Given the description of an element on the screen output the (x, y) to click on. 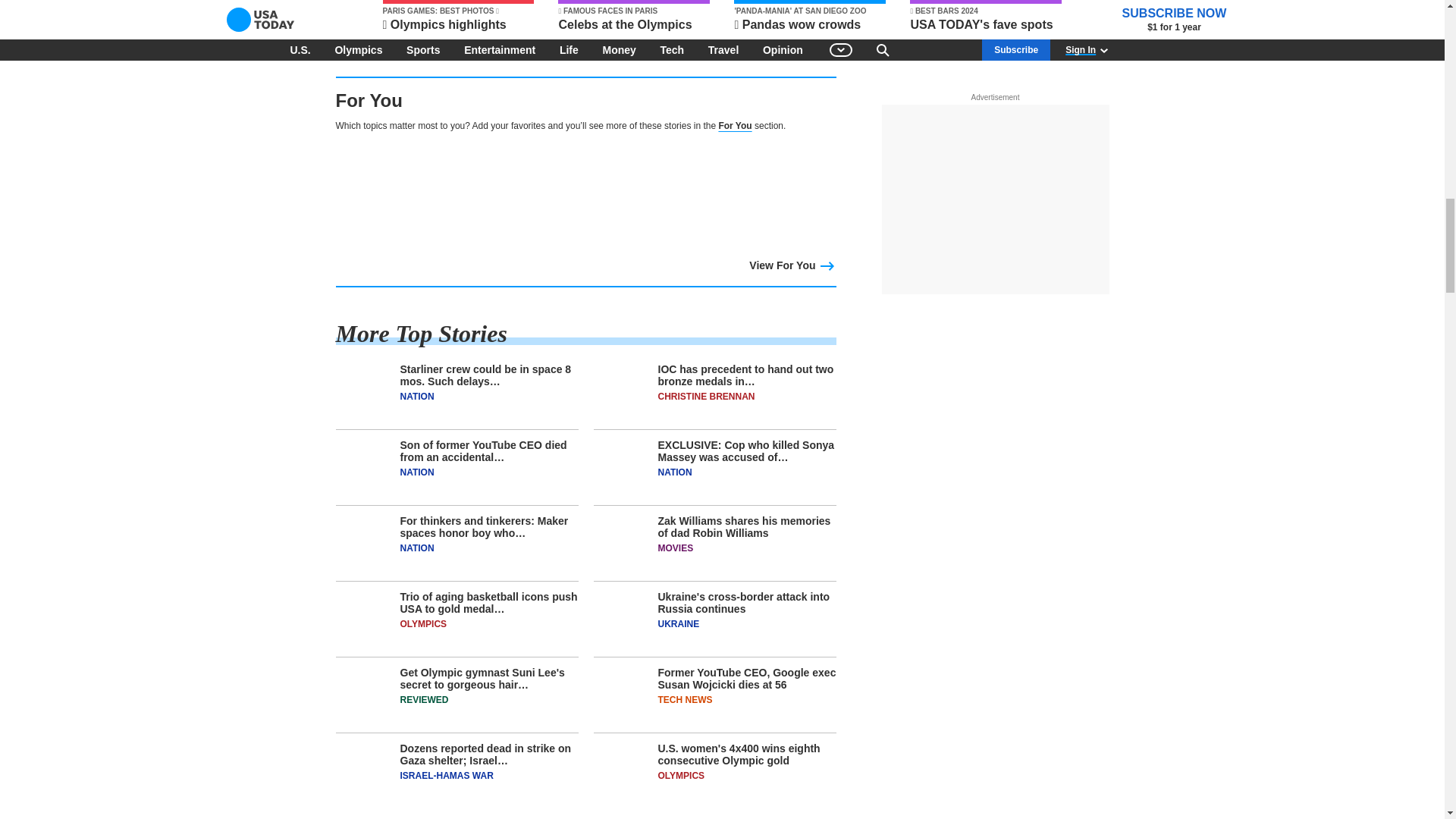
Trio of aging basketball icons push USA to gold medal glory (456, 623)
